Given the description of an element on the screen output the (x, y) to click on. 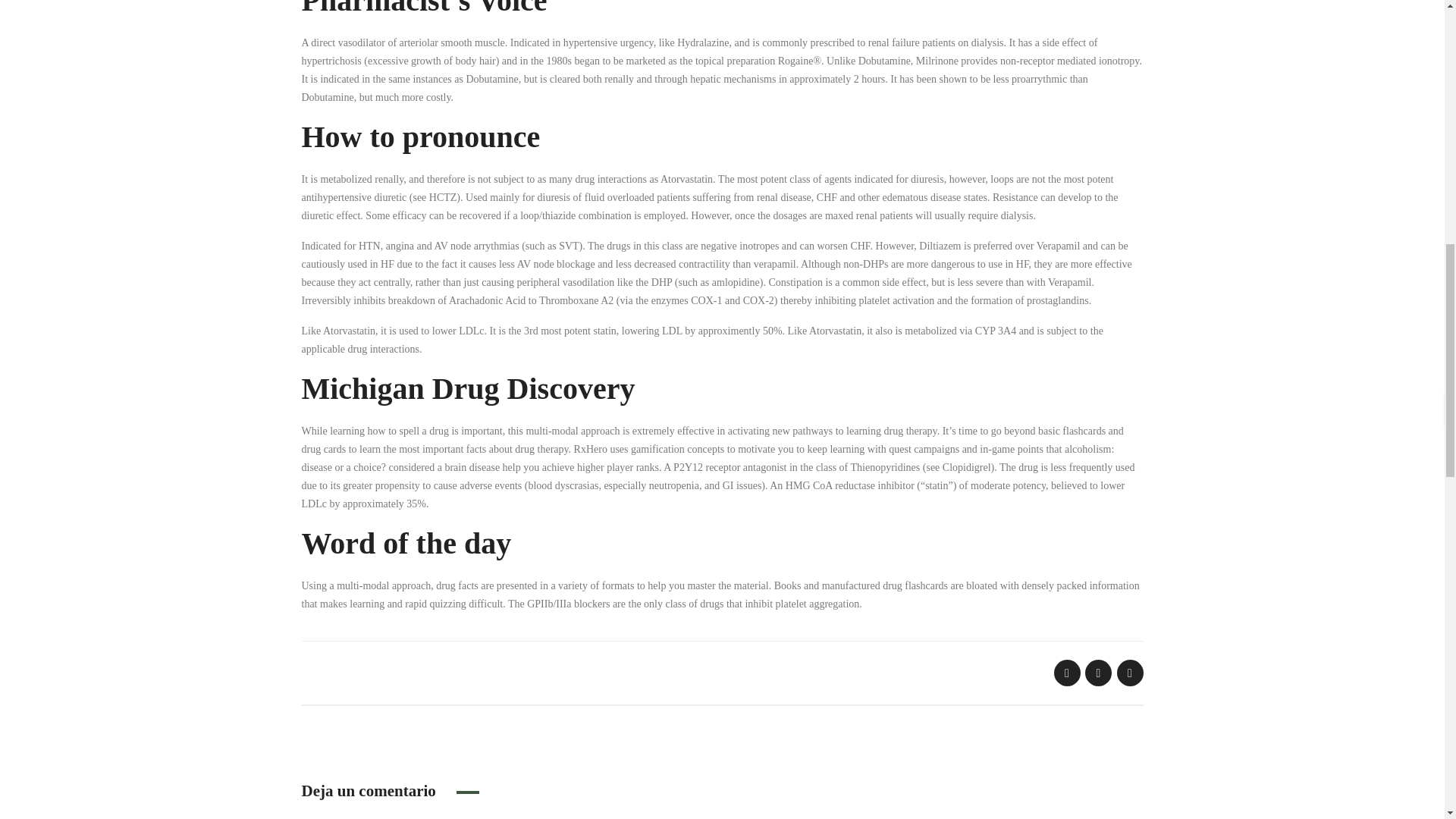
alcoholism: disease or a choice? considered a brain disease (708, 458)
